Given the description of an element on the screen output the (x, y) to click on. 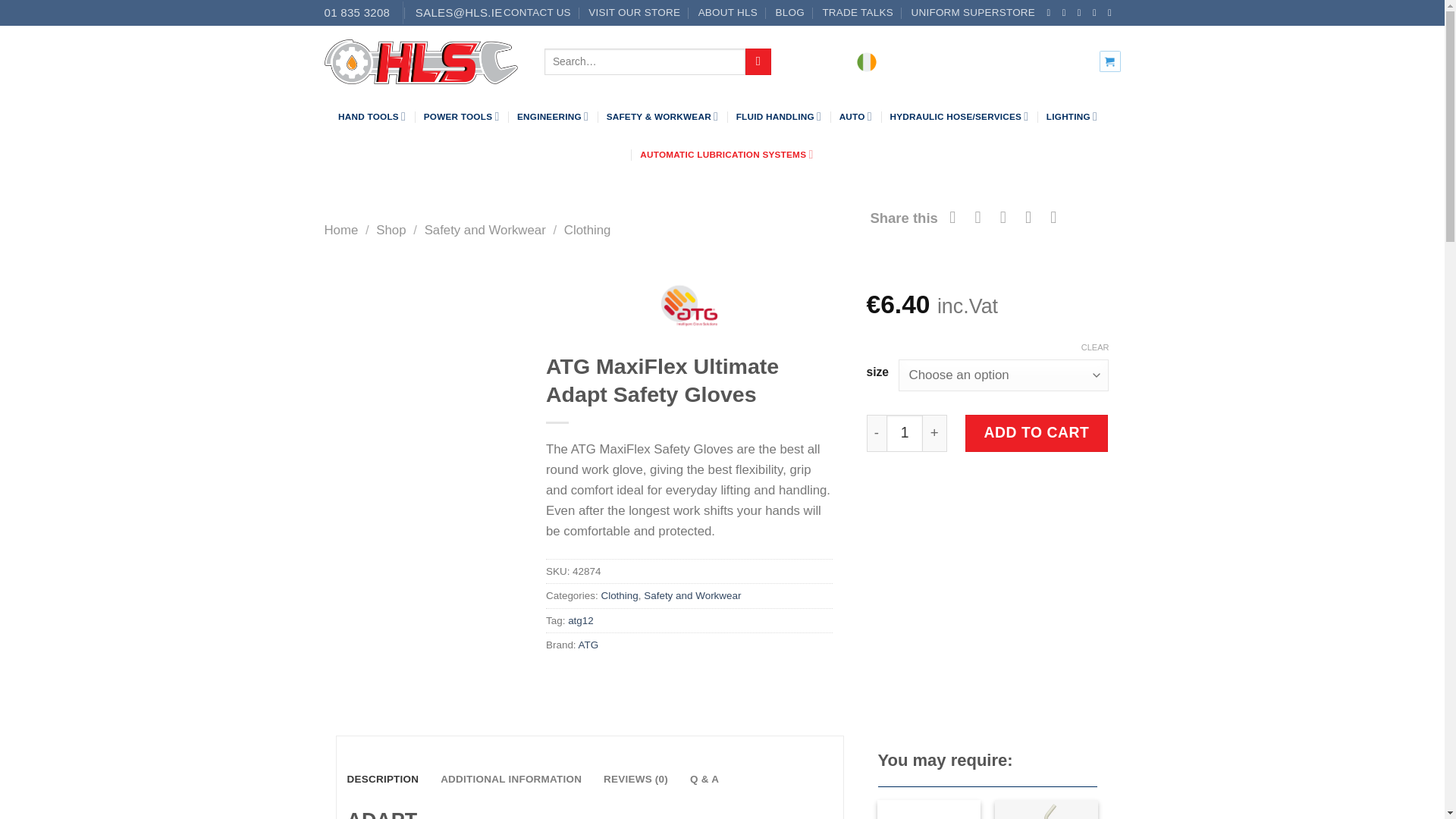
HAND TOOLS (371, 116)
Search (758, 61)
Follow on Instagram (1066, 12)
Follow on YouTube (1113, 12)
ABOUT HLS (727, 12)
01 835 3208 (357, 12)
LOGIN (986, 61)
Follow on LinkedIn (1097, 12)
TRADE TALKS (857, 12)
1 (904, 432)
